Given the description of an element on the screen output the (x, y) to click on. 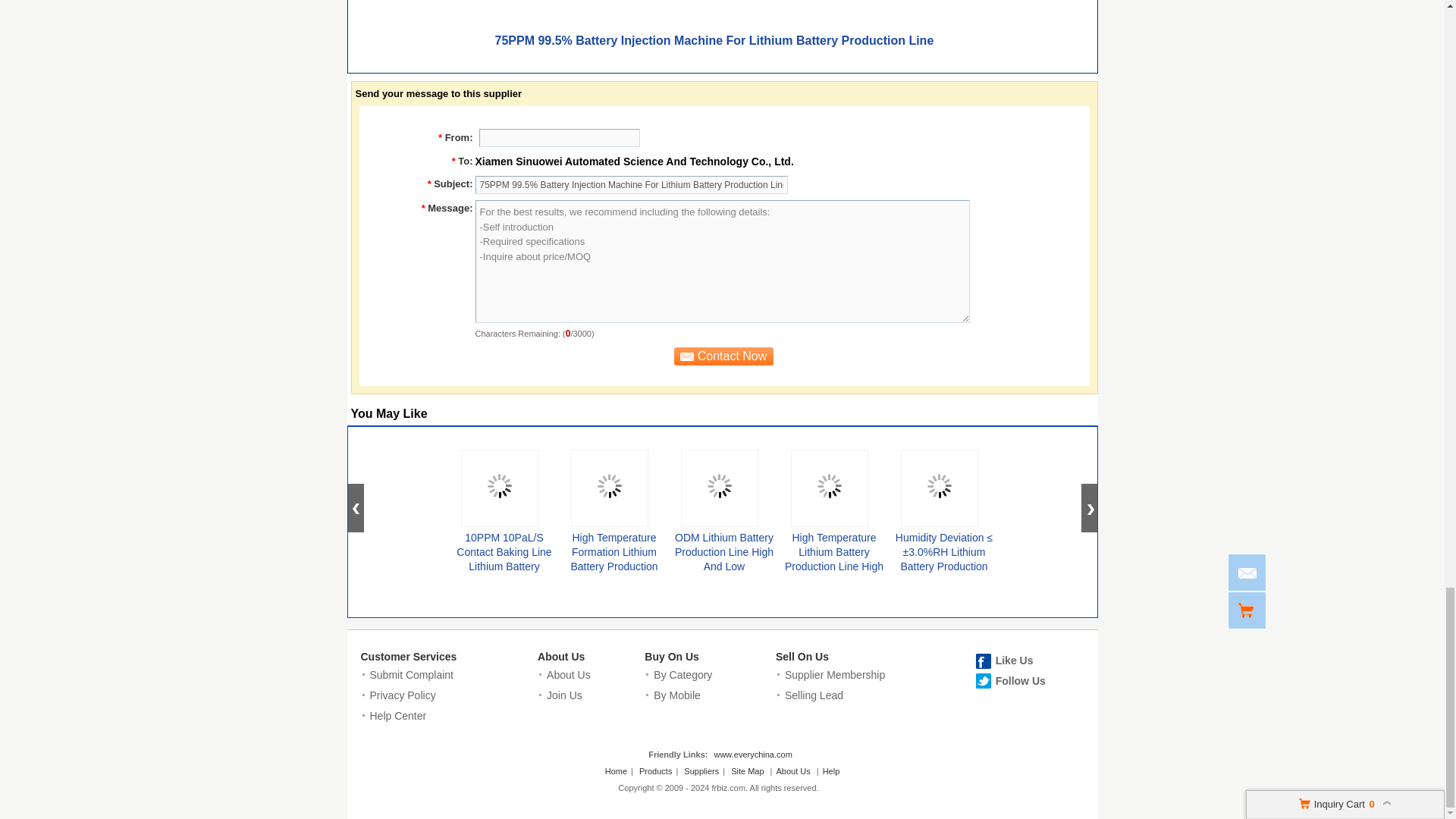
Contact Now (722, 355)
Contact Now (722, 355)
Contact China factory now (722, 355)
